Given the description of an element on the screen output the (x, y) to click on. 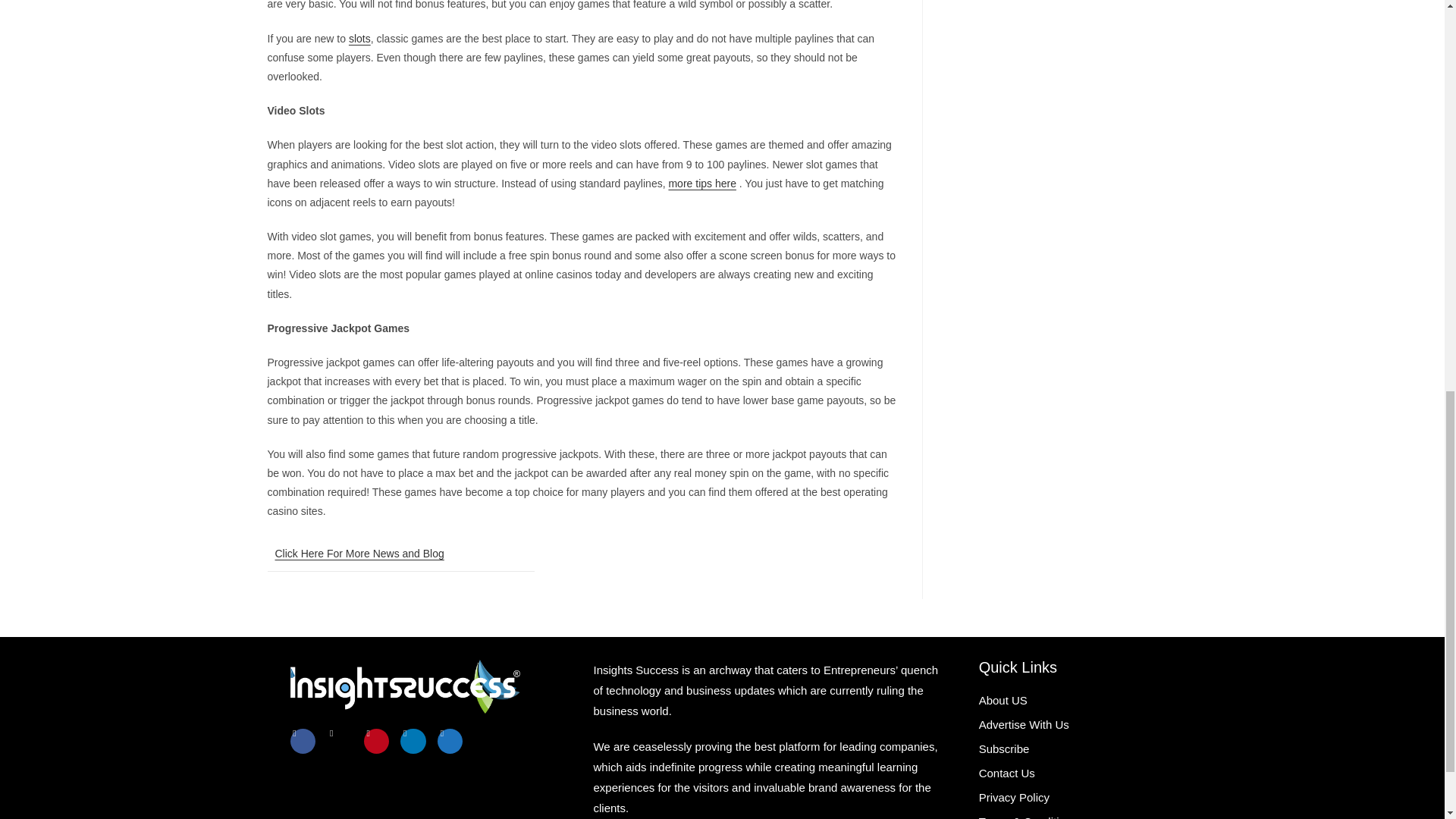
Click Here For More News and Blog (359, 553)
more tips here (701, 183)
slots (360, 38)
